Given the description of an element on the screen output the (x, y) to click on. 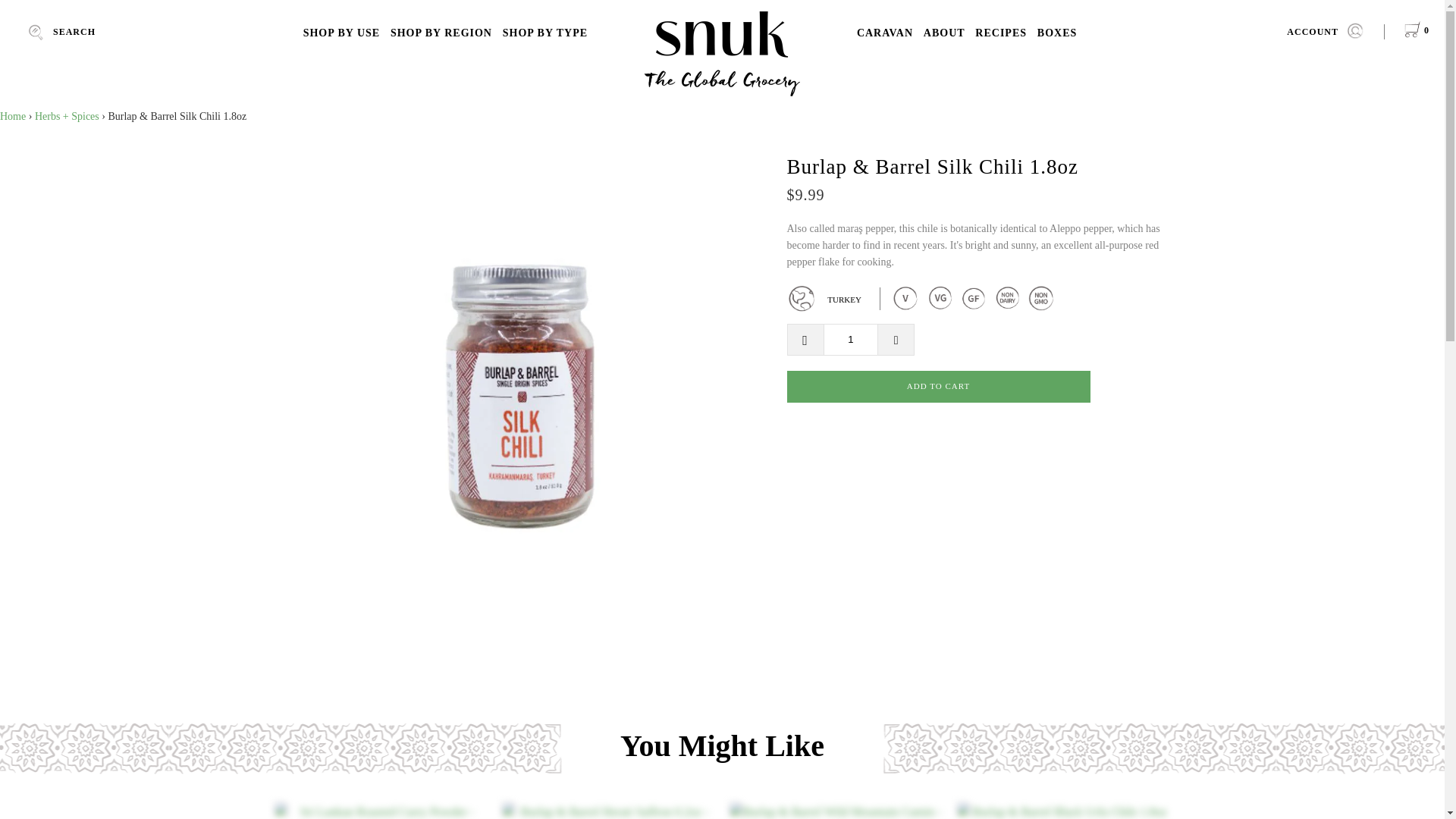
1 (851, 339)
Snuk Foods (722, 53)
Home (13, 116)
